Given the description of an element on the screen output the (x, y) to click on. 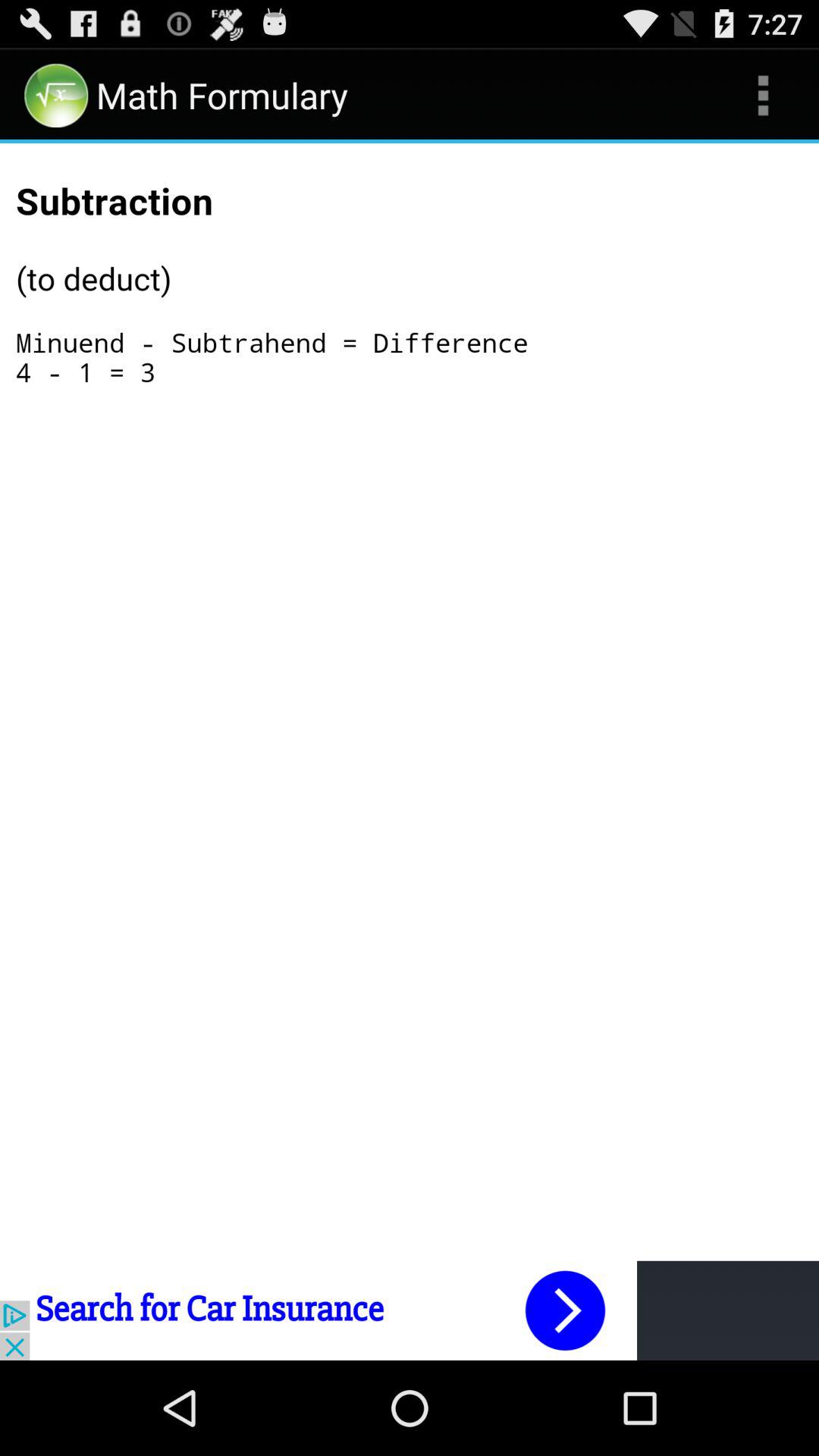
next arrow button (409, 1310)
